Given the description of an element on the screen output the (x, y) to click on. 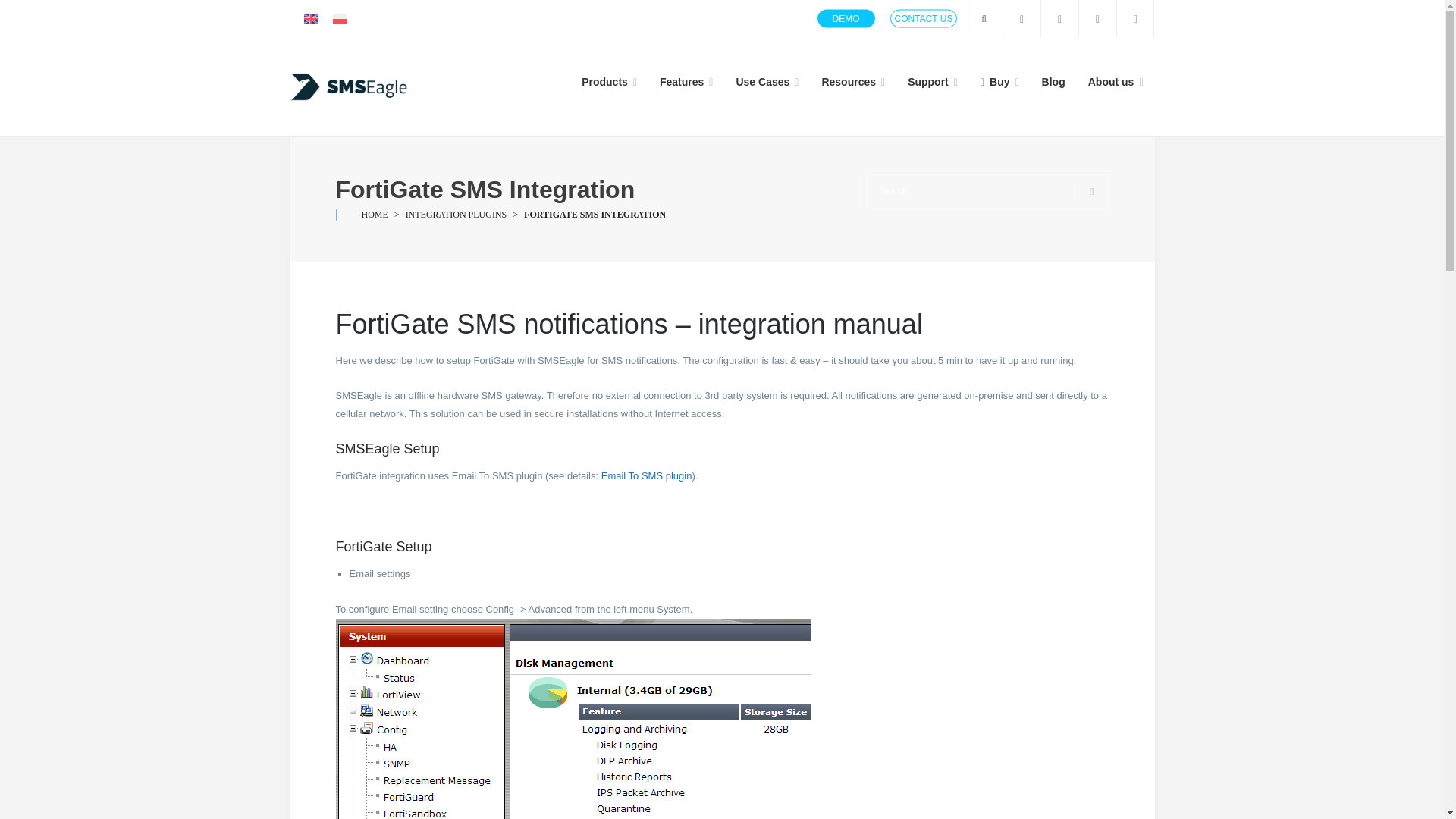
Integration plugins (456, 214)
CONTACT US (923, 18)
fortigate1 (572, 719)
DEMO (845, 18)
FortiGate SMS Integration (594, 214)
